Given the description of an element on the screen output the (x, y) to click on. 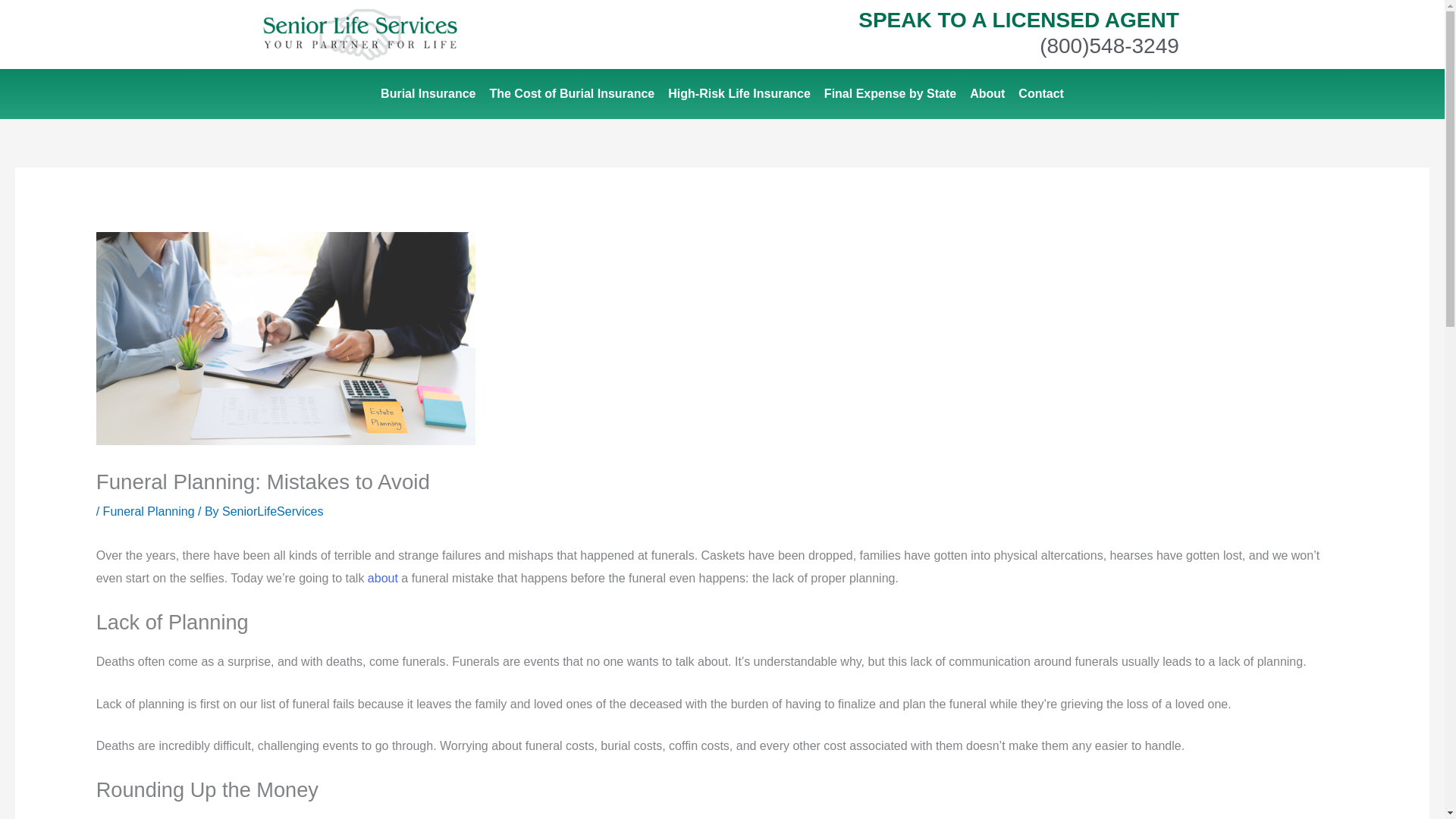
Burial Insurance (427, 93)
View all posts by SeniorLifeServices (272, 511)
Final Expense by State (889, 93)
High-Risk Life Insurance (738, 93)
The Cost of Burial Insurance (571, 93)
